Given the description of an element on the screen output the (x, y) to click on. 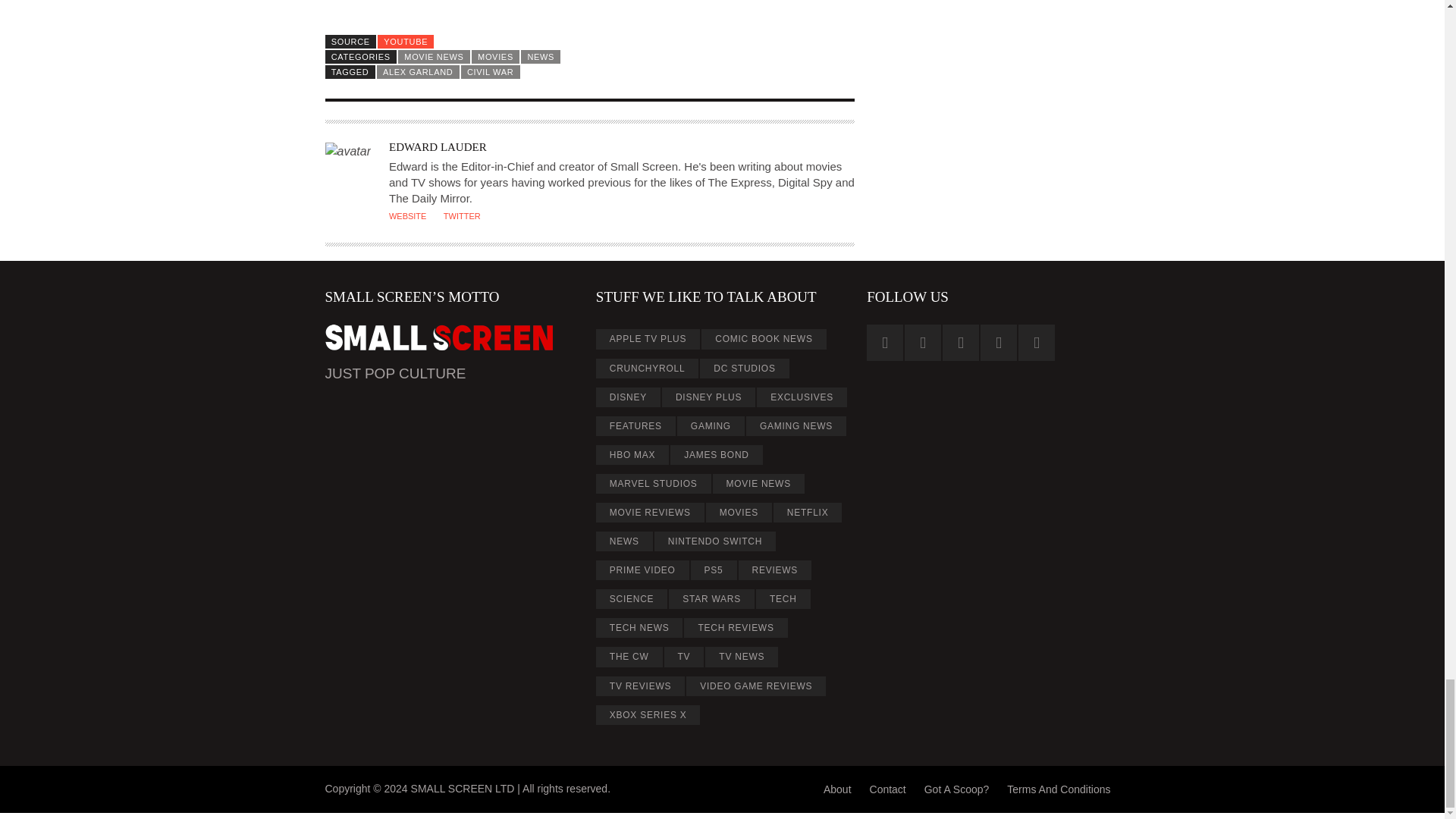
View all posts in NEWS (540, 56)
View all posts tagged Alex Garland (418, 71)
Posts by Edward Lauder (437, 146)
View all posts in MOVIES (495, 56)
View all posts tagged Civil War (490, 71)
View all posts in MOVIE NEWS (433, 56)
